Given the description of an element on the screen output the (x, y) to click on. 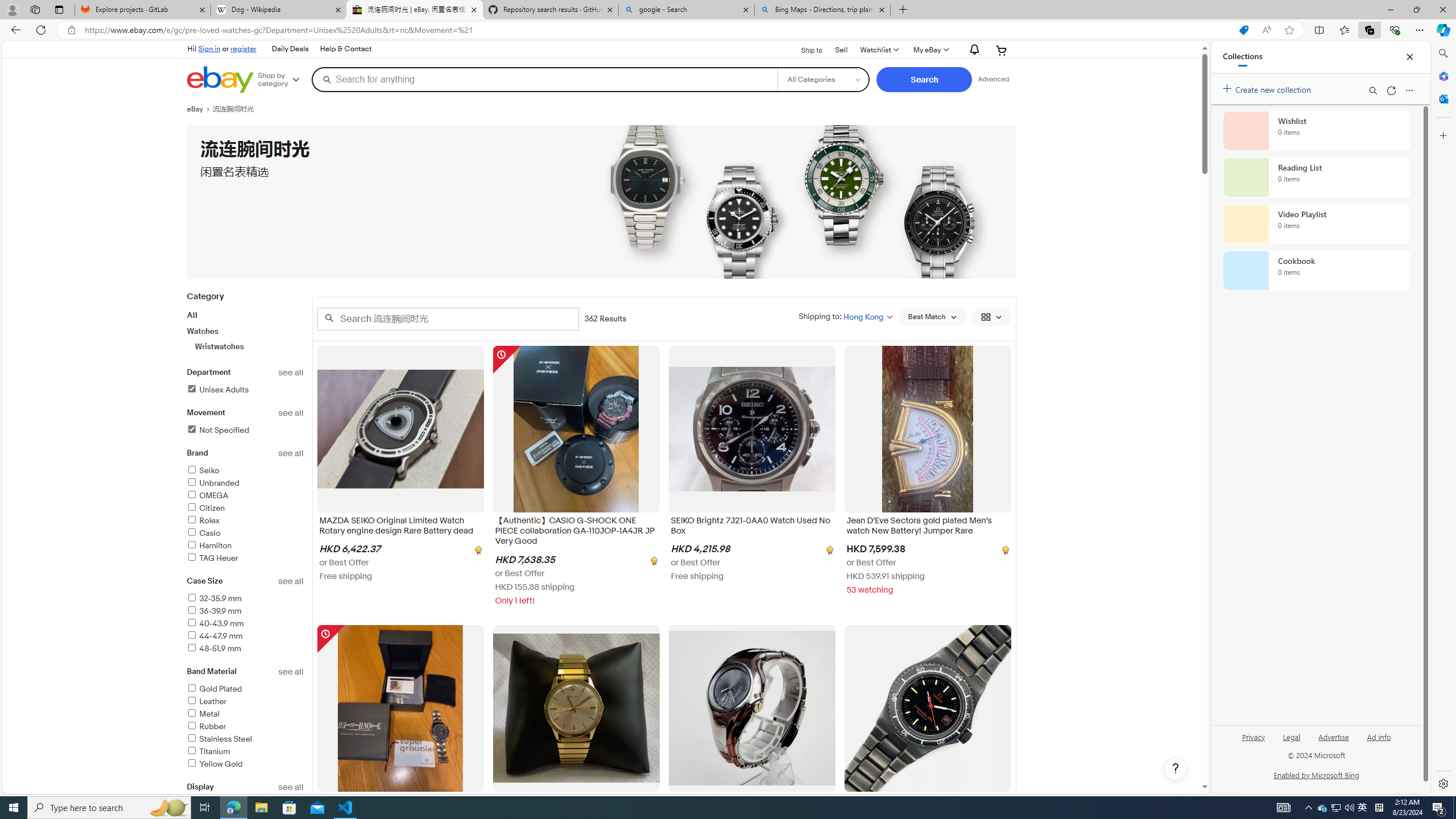
32-35.9 mm (213, 598)
google - Search (685, 9)
Unbranded (213, 483)
Daily Deals (290, 49)
AutomationID: gh-eb-Alerts (972, 49)
Create new collection (1268, 87)
Hamilton (245, 546)
Privacy (1252, 741)
Stainless Steel (218, 738)
Outlook (1442, 98)
AllWatchesWristwatches (245, 330)
Movementsee allNot SpecifiedFilter Applied (245, 427)
Advertise (1333, 741)
